Given the description of an element on the screen output the (x, y) to click on. 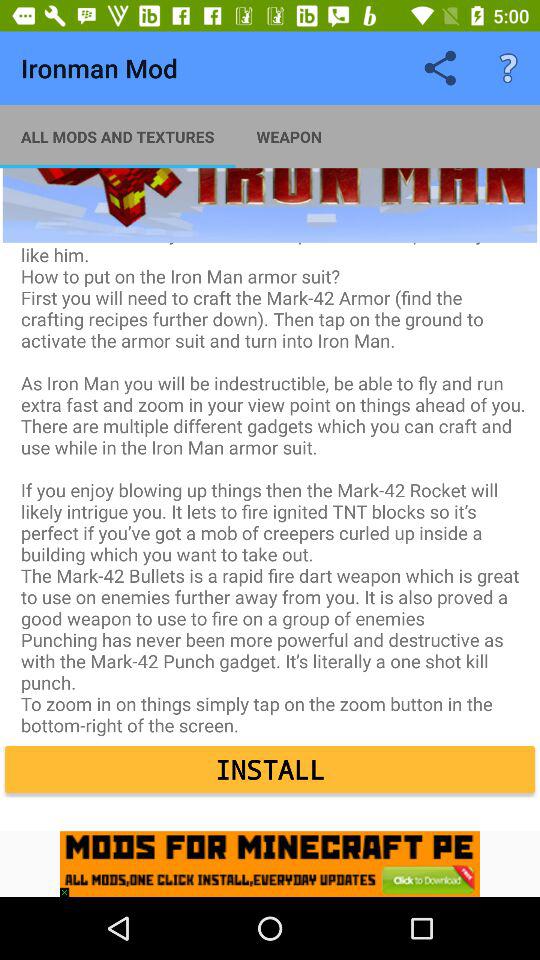
swipe to the install item (270, 769)
